Given the description of an element on the screen output the (x, y) to click on. 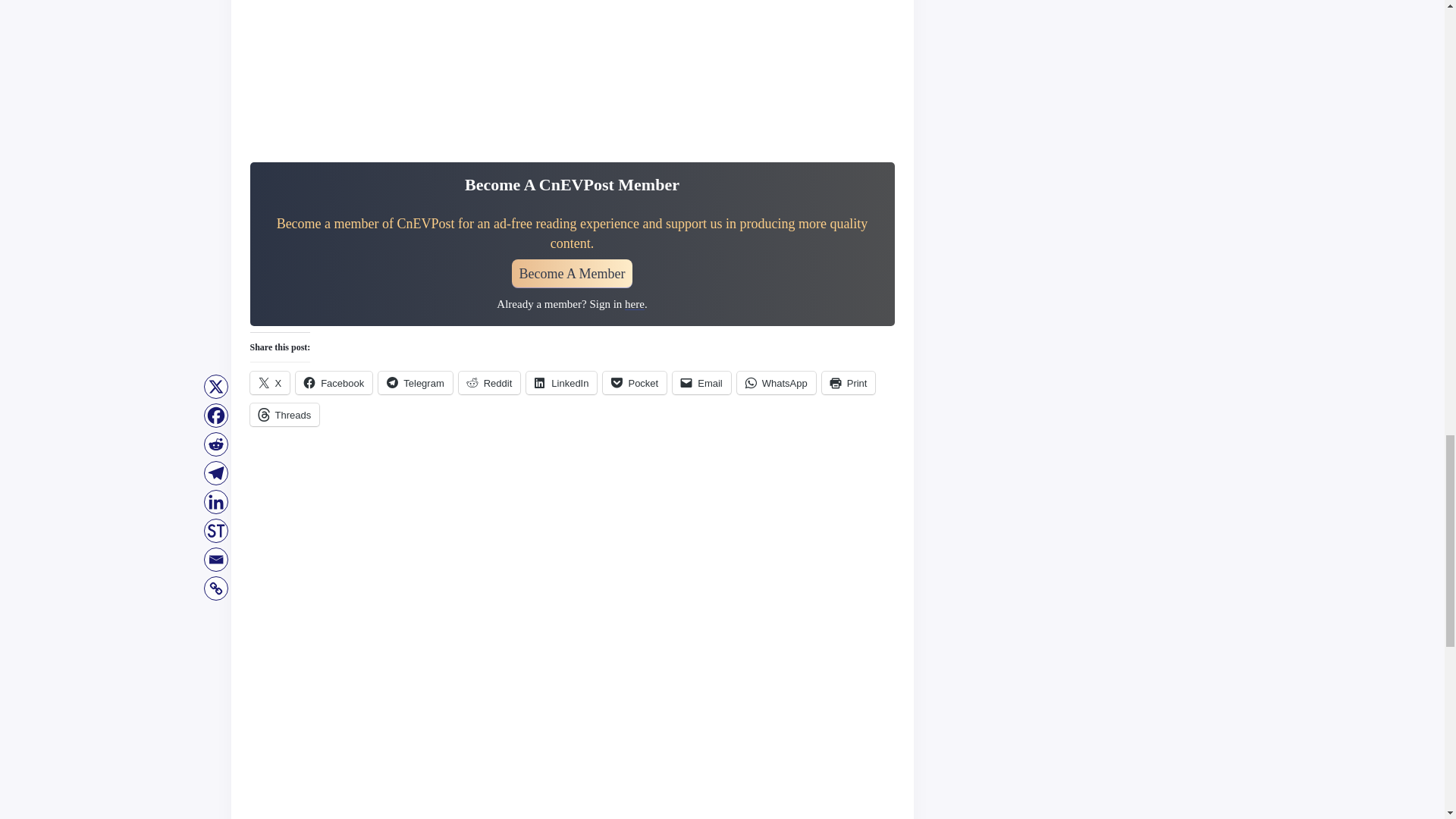
LinkedIn (560, 382)
here (634, 304)
Pocket (634, 382)
Click to print (849, 382)
X (269, 382)
Telegram (414, 382)
Click to share on Telegram (414, 382)
Reddit (489, 382)
Become A Member (572, 273)
Click to share on Pocket (634, 382)
Click to share on LinkedIn (560, 382)
Click to email a link to a friend (701, 382)
Click to share on Threads (285, 414)
Click to share on WhatsApp (775, 382)
Click to share on Reddit (489, 382)
